Given the description of an element on the screen output the (x, y) to click on. 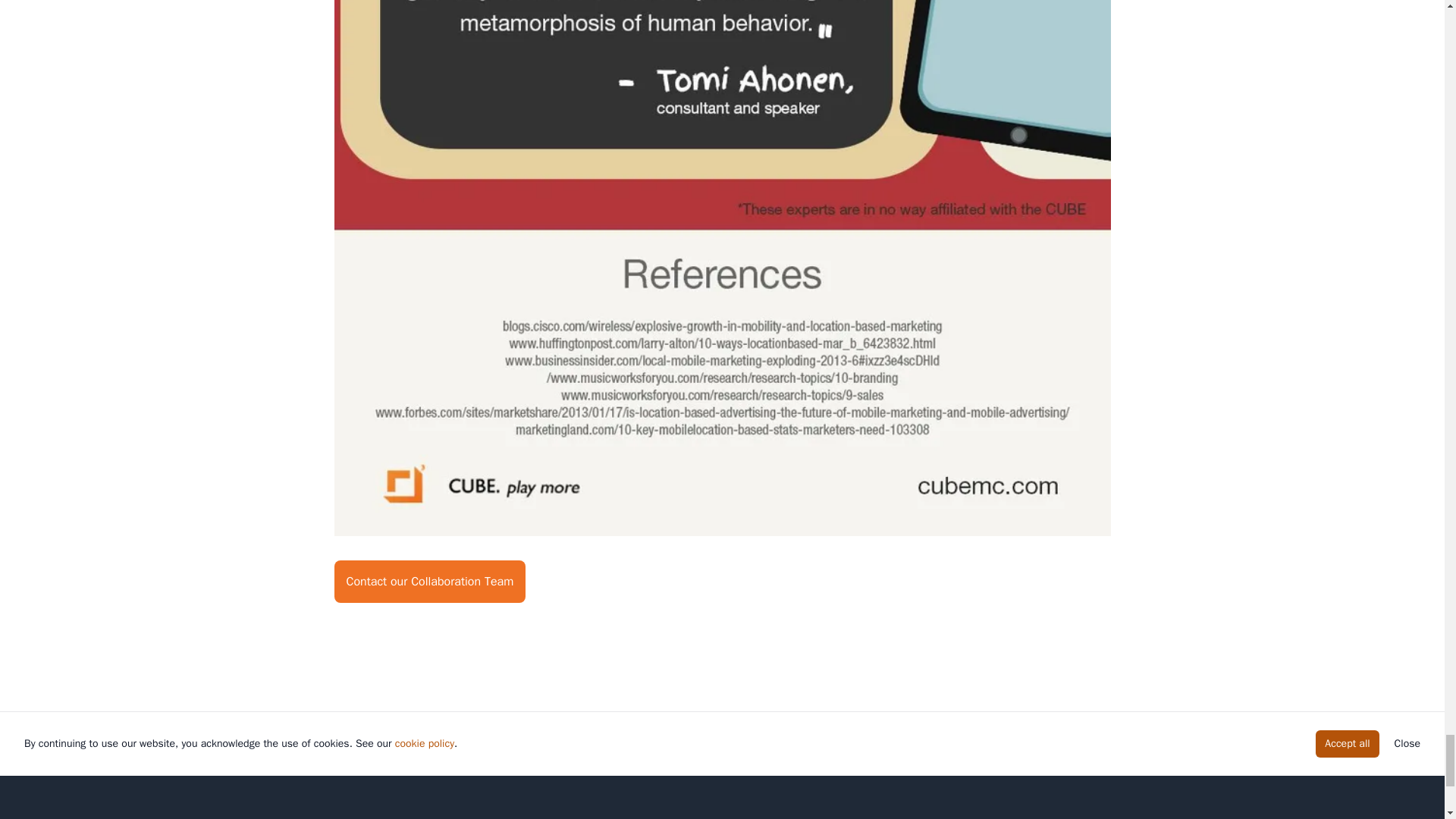
Contact our Collaboration Team (429, 581)
